Given the description of an element on the screen output the (x, y) to click on. 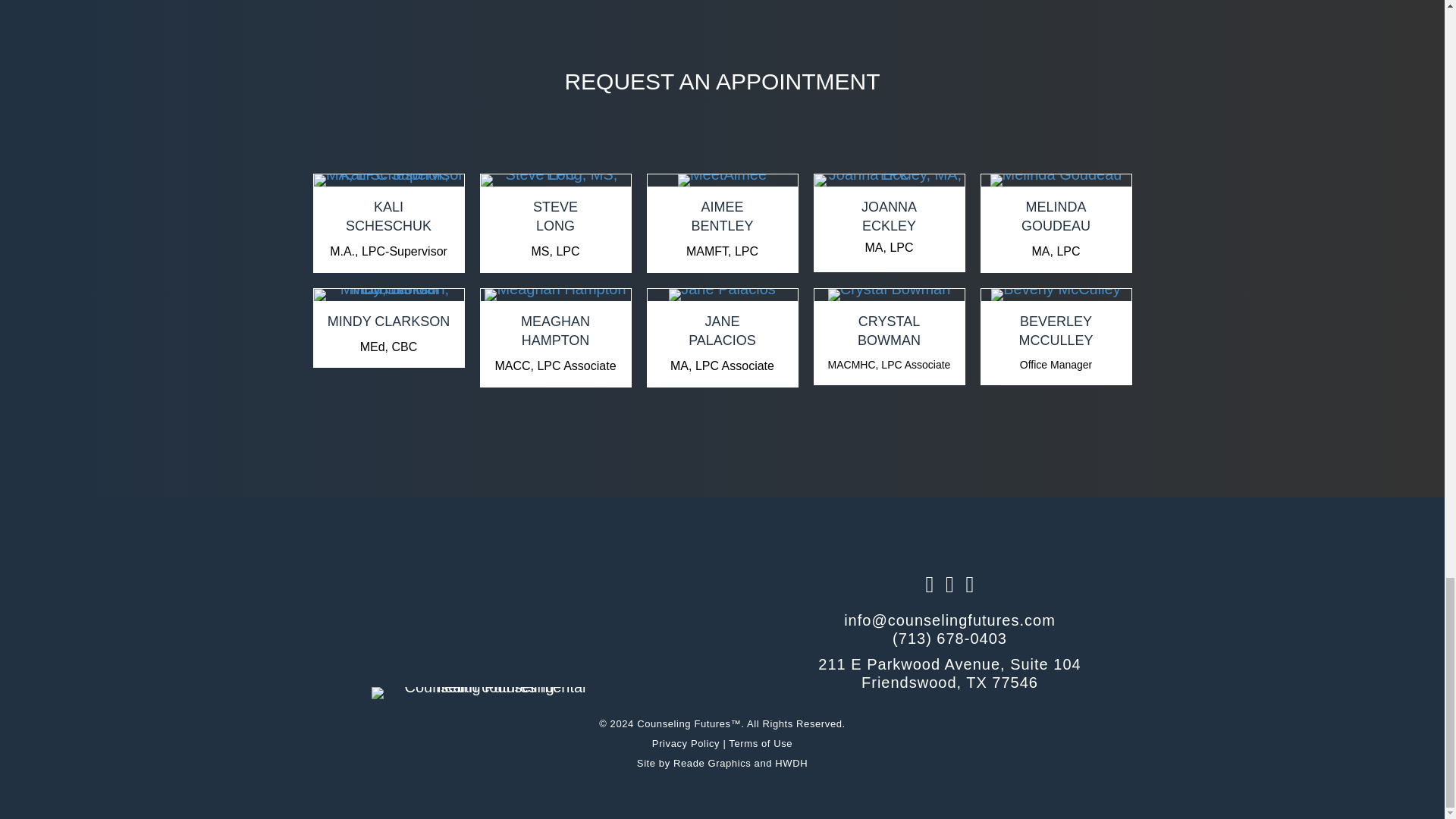
Kali Scheschuk, MA, LPC Supervisor (389, 180)
Joanna Eckley, MA, LPC (888, 180)
Melinda (555, 216)
MeetAimee (1056, 180)
Mindy Clarkson, MEd, Biblical Counselor (722, 180)
Crystal-Bowman (389, 295)
Beverly-McCulley-Pic (388, 216)
Jane-Palacios (889, 295)
